Given the description of an element on the screen output the (x, y) to click on. 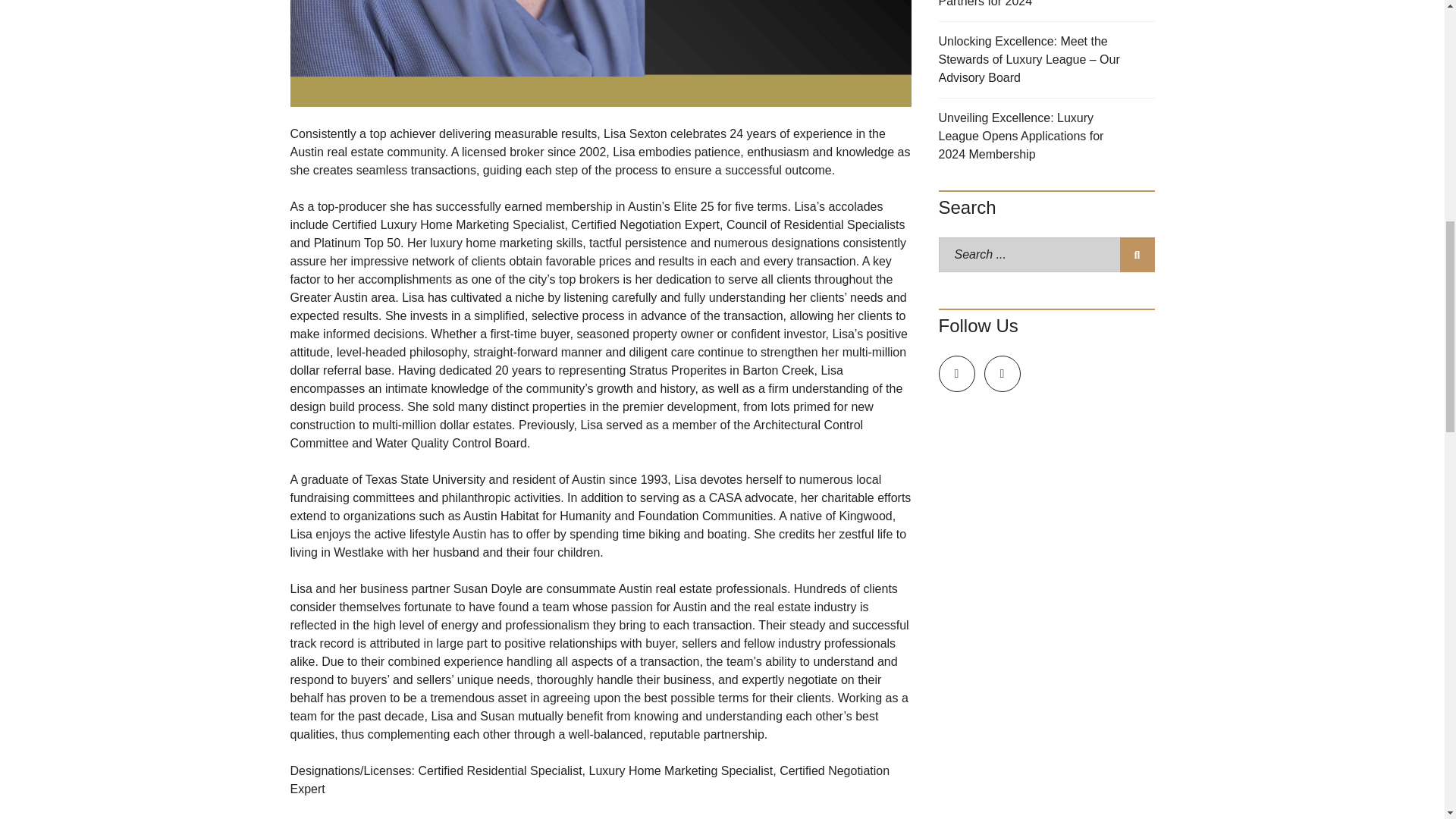
Meet Lisa Sexton (600, 53)
